Given the description of an element on the screen output the (x, y) to click on. 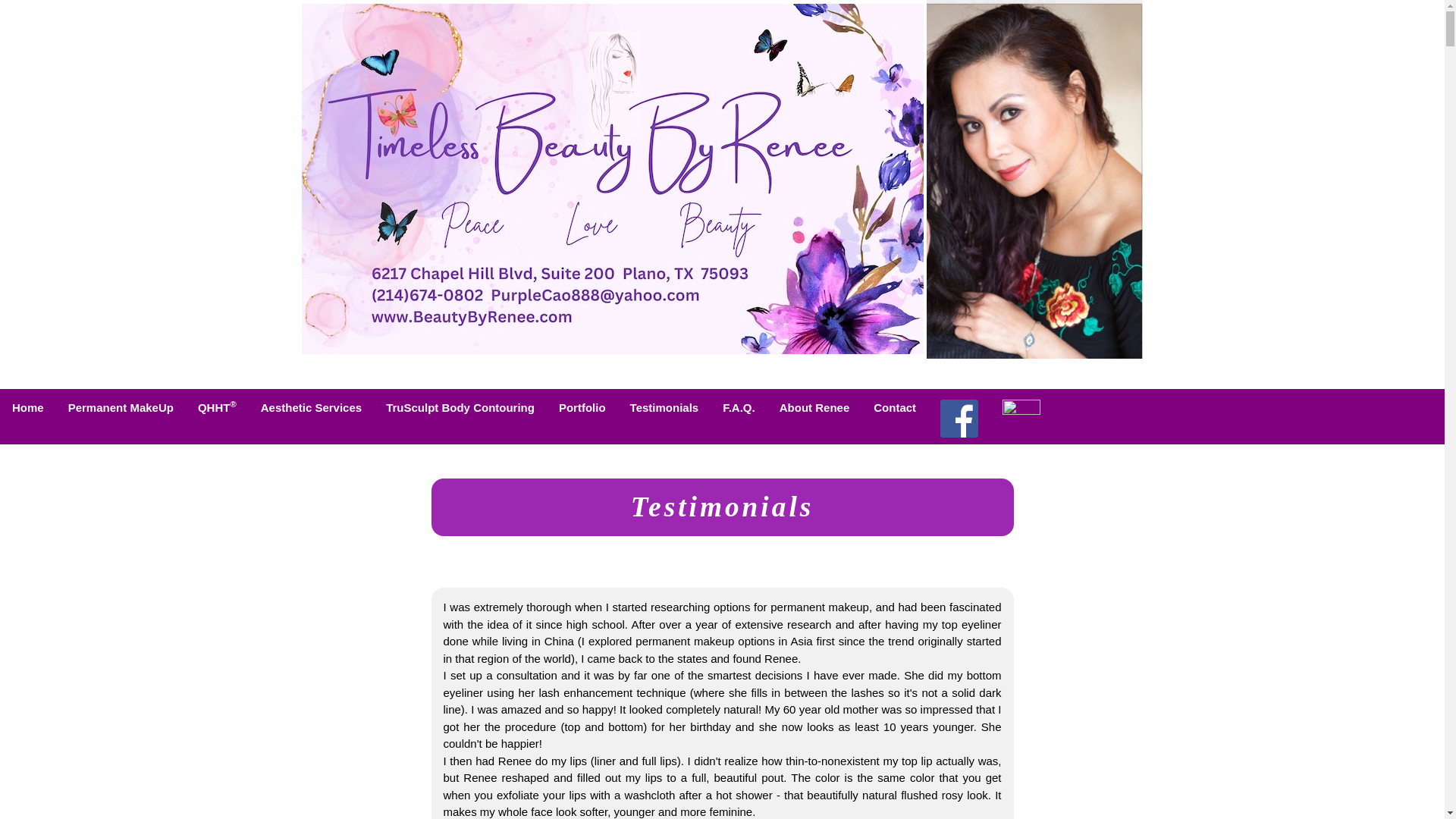
Testimonials (664, 408)
Home (28, 408)
TruSculpt Body Contouring (460, 408)
Aesthetic Services (311, 408)
Permanent MakeUp (121, 408)
F.A.Q. (738, 408)
Contact (894, 408)
About Renee (814, 408)
Portfolio (582, 408)
